Given the description of an element on the screen output the (x, y) to click on. 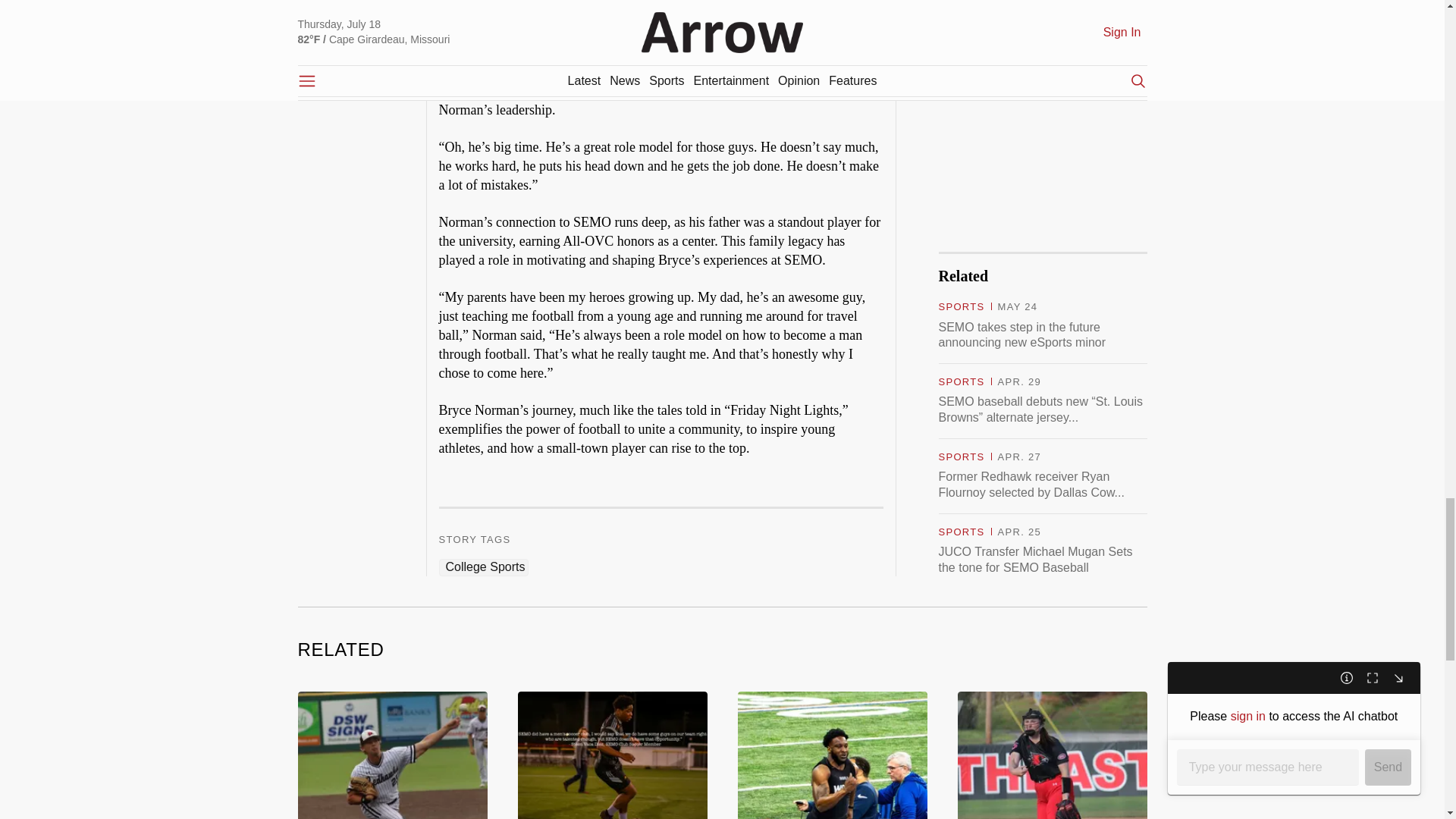
College Sports (483, 567)
